Given the description of an element on the screen output the (x, y) to click on. 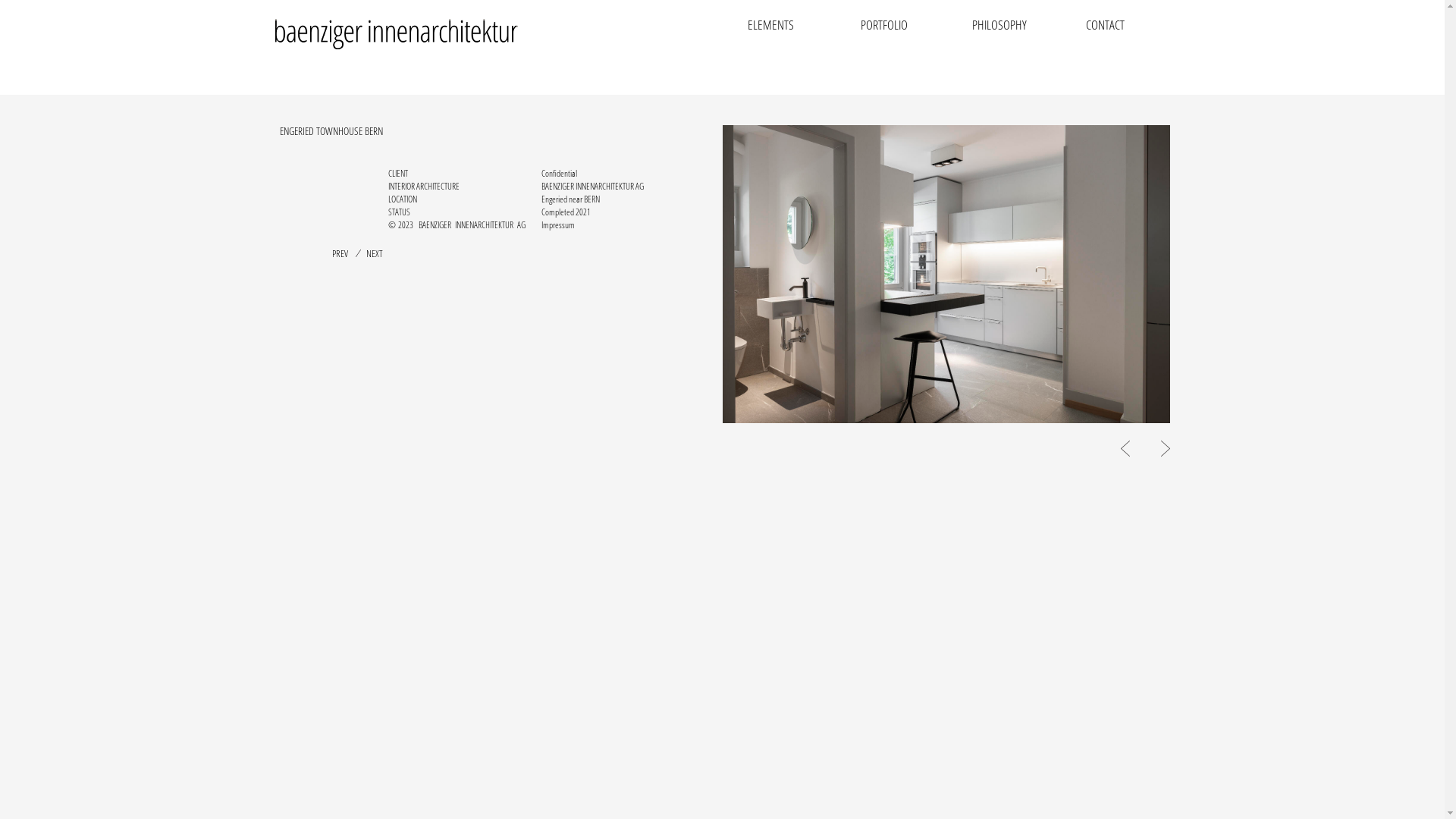
PHILOSOPHY Element type: text (999, 24)
NEXT Element type: text (374, 253)
PREV Element type: text (340, 253)
Impressum Element type: text (557, 224)
PORTFOLIO Element type: text (884, 24)
CONTACT Element type: text (1104, 24)
ELEMENTS Element type: text (770, 24)
